Given the description of an element on the screen output the (x, y) to click on. 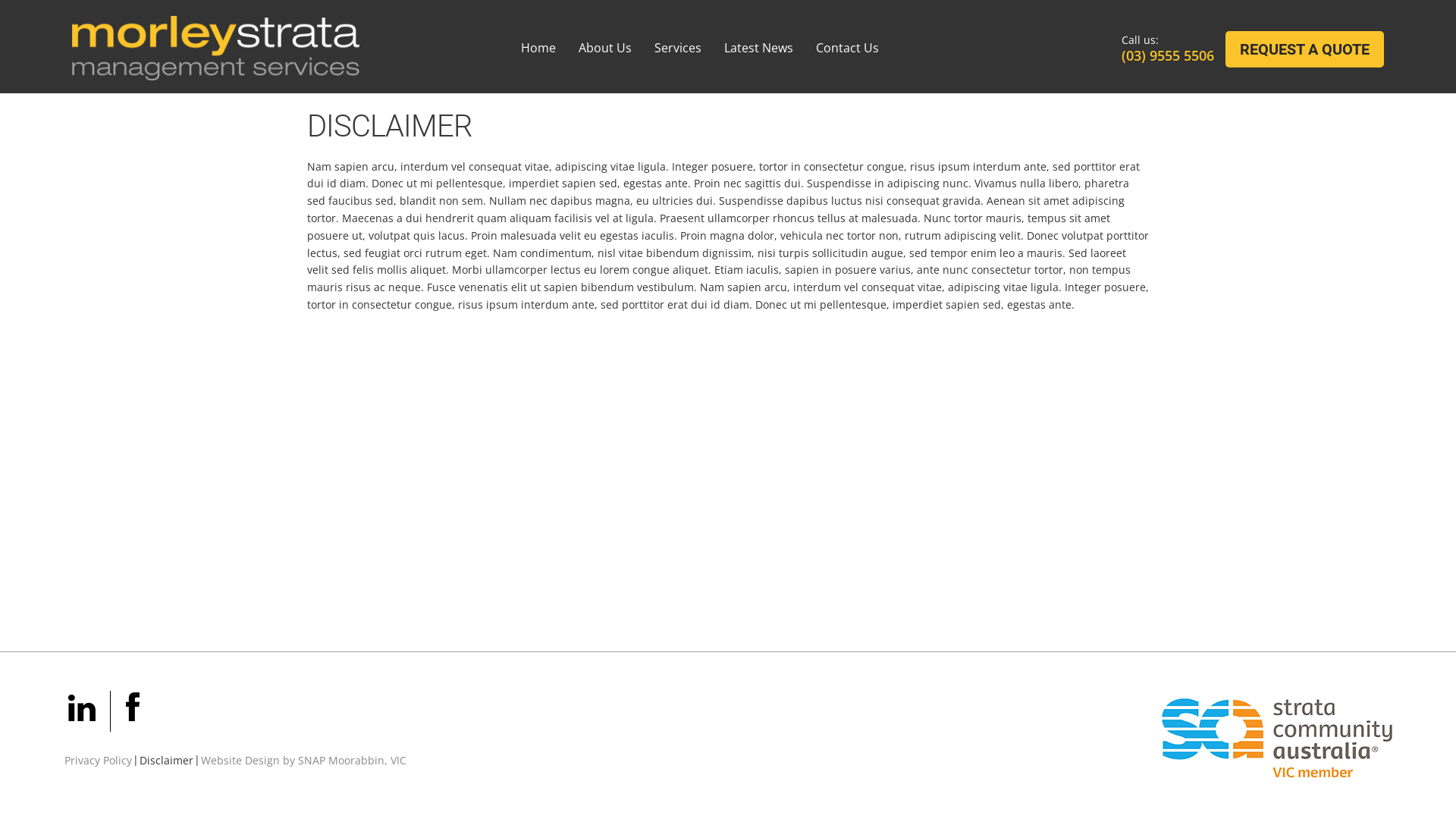
(03) 9555 5506 Element type: text (1167, 55)
Privacy Policy Element type: text (97, 760)
Website Design by SNAP Moorabbin, VIC Element type: text (303, 760)
Disclaimer Element type: text (166, 760)
Latest News Element type: text (758, 47)
Contact Us Element type: text (847, 47)
About Us Element type: text (605, 47)
Services Element type: text (677, 47)
Home Element type: text (538, 47)
REQUEST A QUOTE Element type: text (1304, 49)
